Given the description of an element on the screen output the (x, y) to click on. 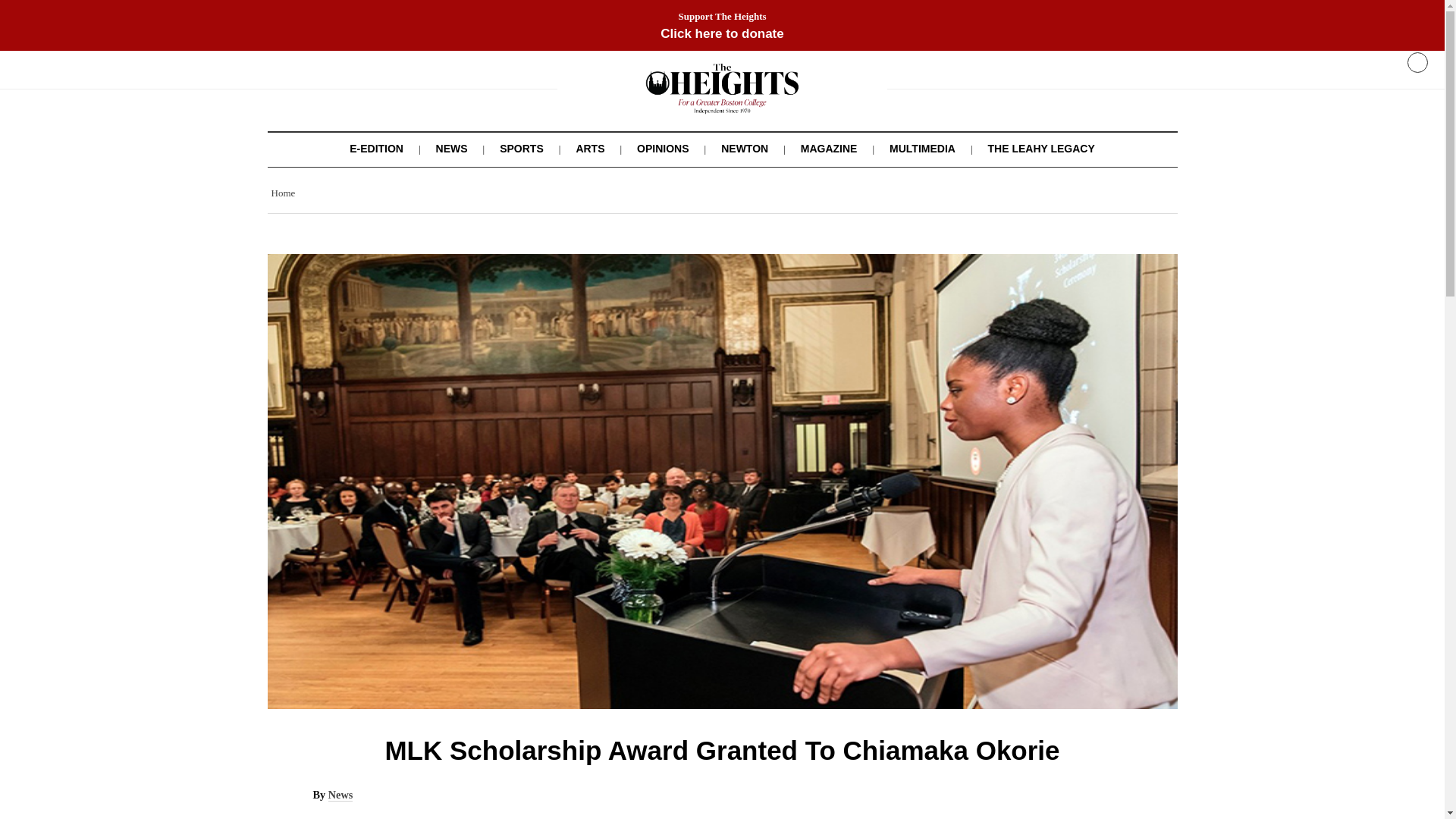
Home (282, 193)
News (341, 794)
NEWTON (744, 148)
MULTIMEDIA (922, 148)
Click here to donate (722, 33)
THE LEAHY LEGACY (1040, 148)
E-EDITION (376, 148)
ARTS (589, 148)
SPORTS (521, 148)
MAGAZINE (828, 148)
The Heights (721, 103)
OPINIONS (662, 148)
NEWS (451, 148)
